Given the description of an element on the screen output the (x, y) to click on. 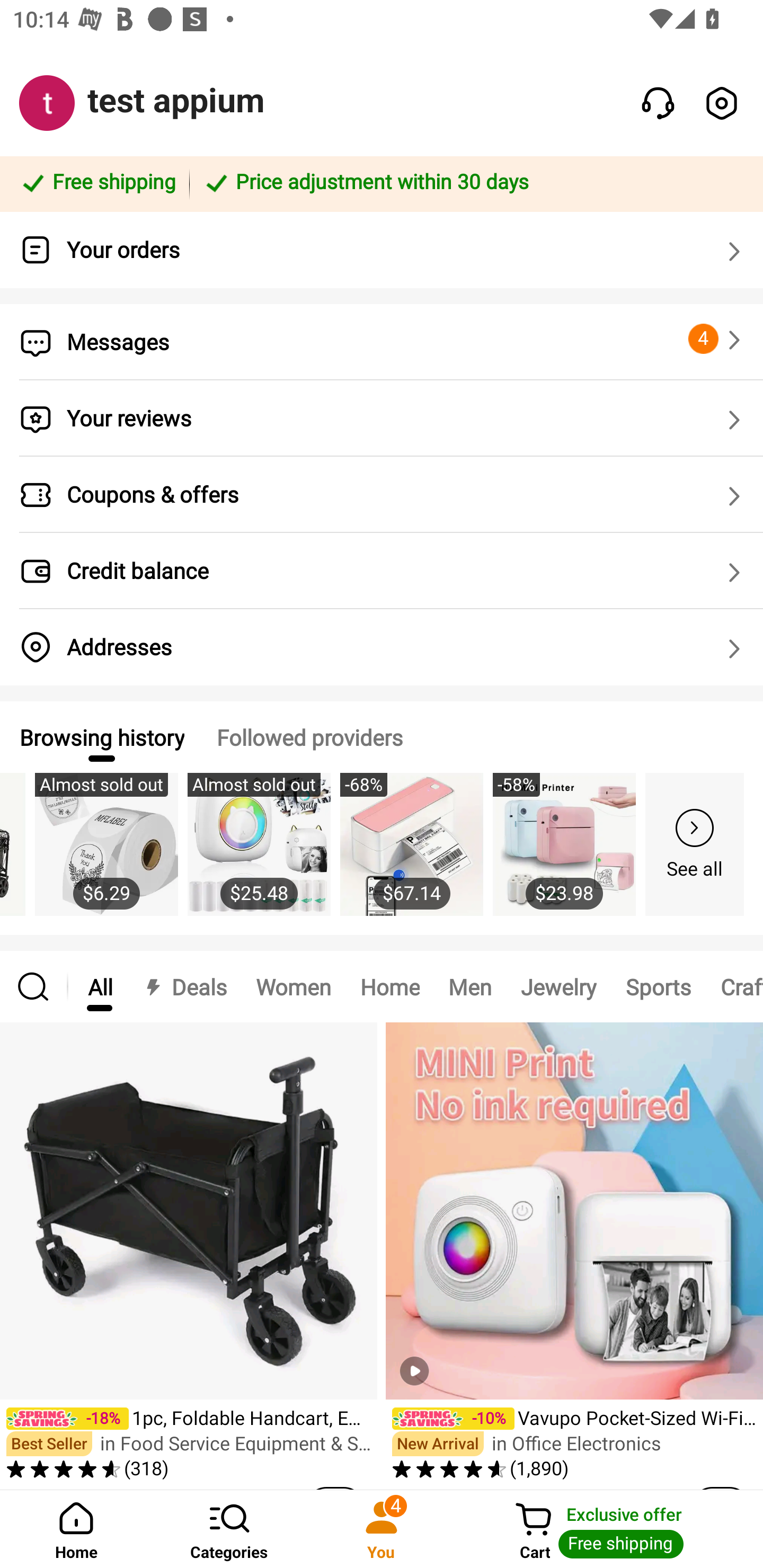
test appium (175, 100)
Free shipping (97, 183)
Price adjustment within 30 days (472, 183)
Your orders (381, 249)
Messages 4 (381, 342)
4 (717, 339)
Your reviews (381, 418)
Coupons & offers (381, 494)
Credit balance (381, 571)
Addresses (381, 647)
Browsing history (101, 736)
Followed providers (308, 736)
Almost sold out $6.29 (106, 853)
Almost sold out $25.48 (258, 853)
-68% $67.14 (411, 853)
-58% $23.98 (563, 853)
See all (694, 844)
All (99, 986)
Deals Deals Deals (183, 986)
Women (293, 986)
Home (389, 986)
Men (469, 986)
Jewelry (558, 986)
Sports (658, 986)
Crafts (734, 986)
Home (76, 1528)
Categories (228, 1528)
You 4 You (381, 1528)
Cart Cart Exclusive offer (610, 1528)
